Given the description of an element on the screen output the (x, y) to click on. 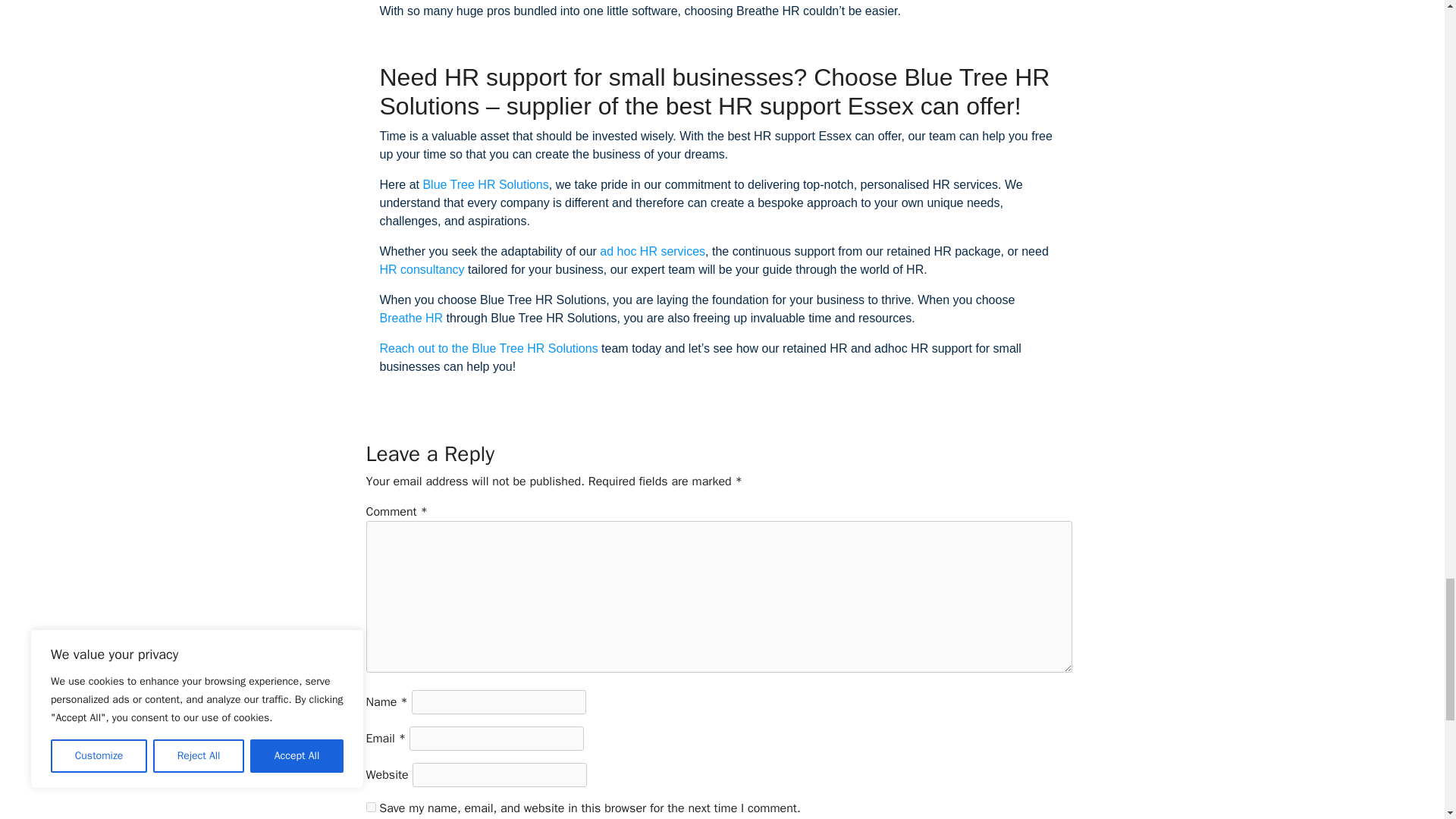
yes (370, 807)
